Given the description of an element on the screen output the (x, y) to click on. 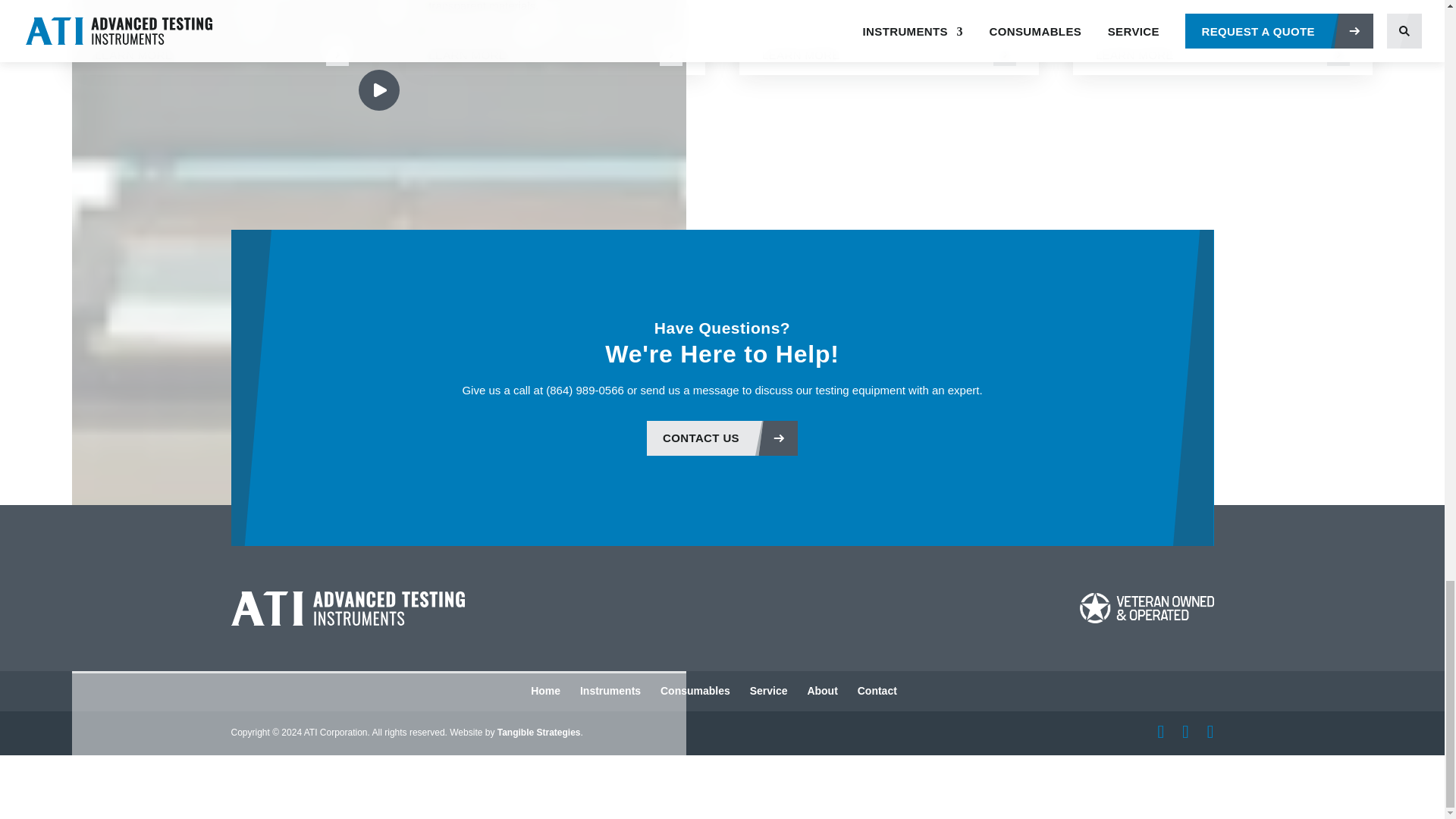
Consumables (695, 690)
CONTACT US (721, 437)
Instruments (609, 690)
Service (768, 690)
Contact (876, 690)
About (821, 690)
